Given the description of an element on the screen output the (x, y) to click on. 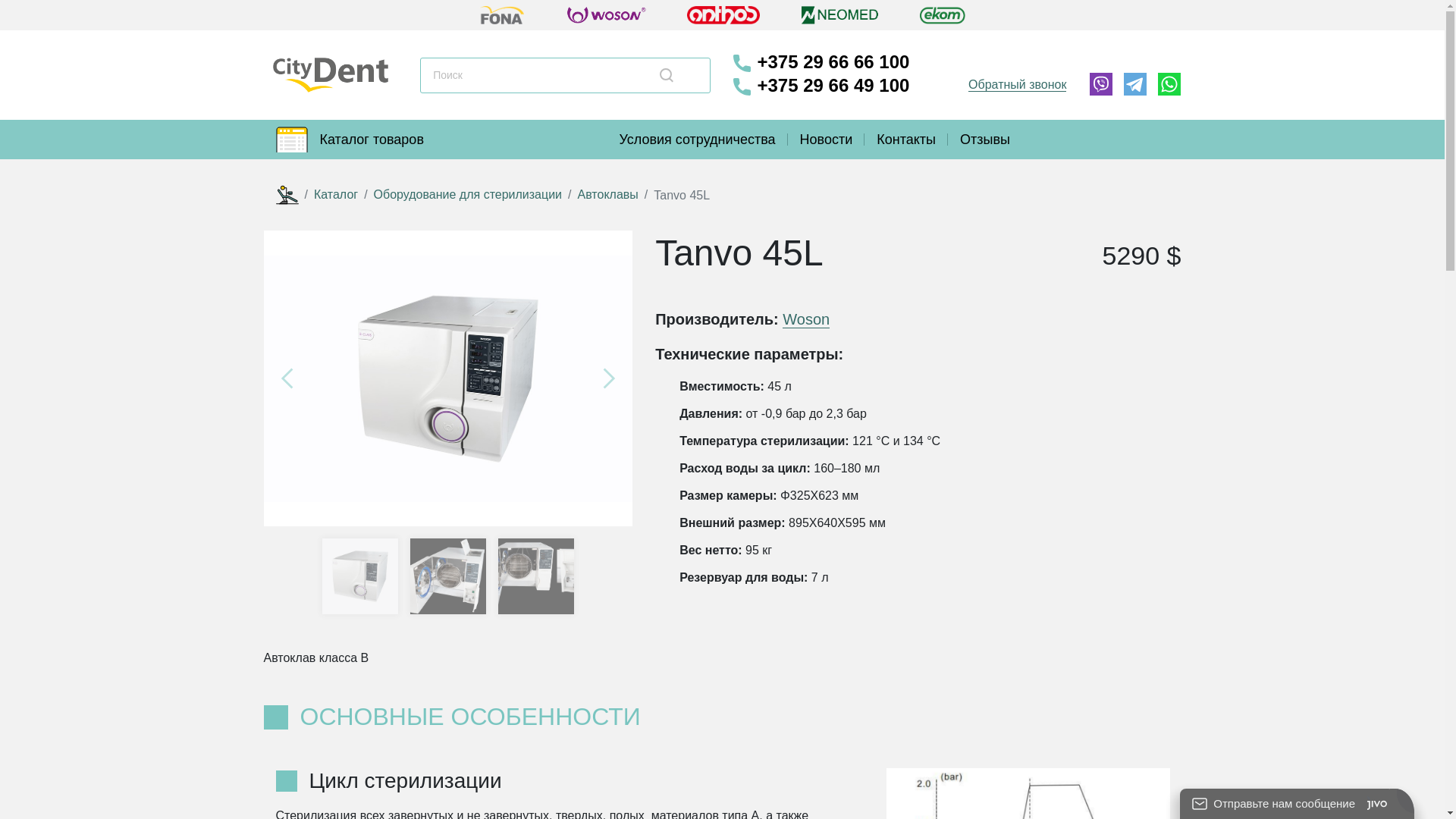
+375 29 66 66 100 Element type: text (821, 63)
+375 29 66 49 100 Element type: text (821, 86)
Woson Element type: text (805, 319)
